Given the description of an element on the screen output the (x, y) to click on. 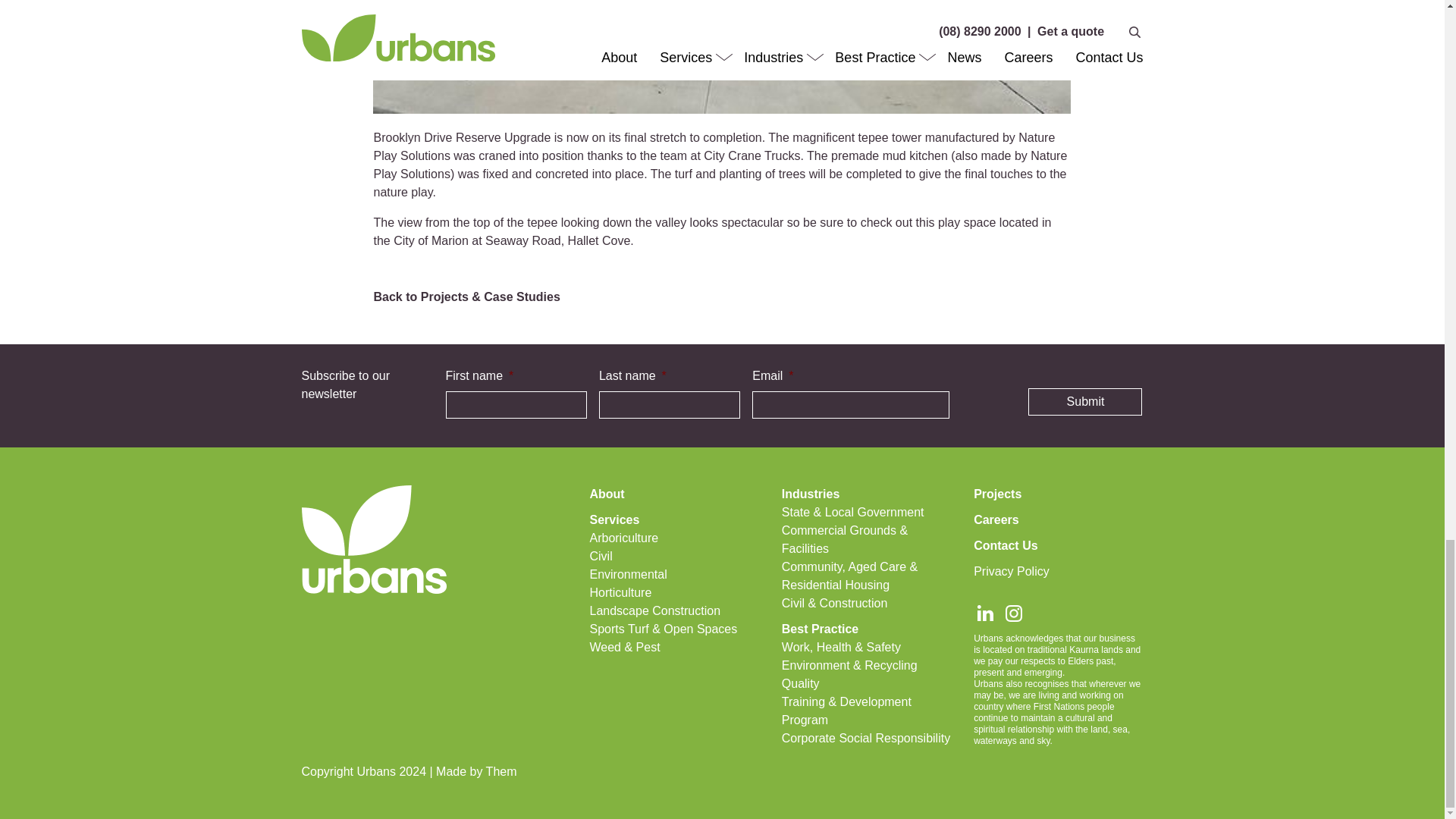
Services (614, 519)
Landscape Construction (654, 610)
Civil (600, 555)
Submit (1084, 401)
Environmental (627, 574)
Horticulture (619, 592)
Arboriculture (623, 537)
About (606, 493)
Submit (1084, 401)
